Given the description of an element on the screen output the (x, y) to click on. 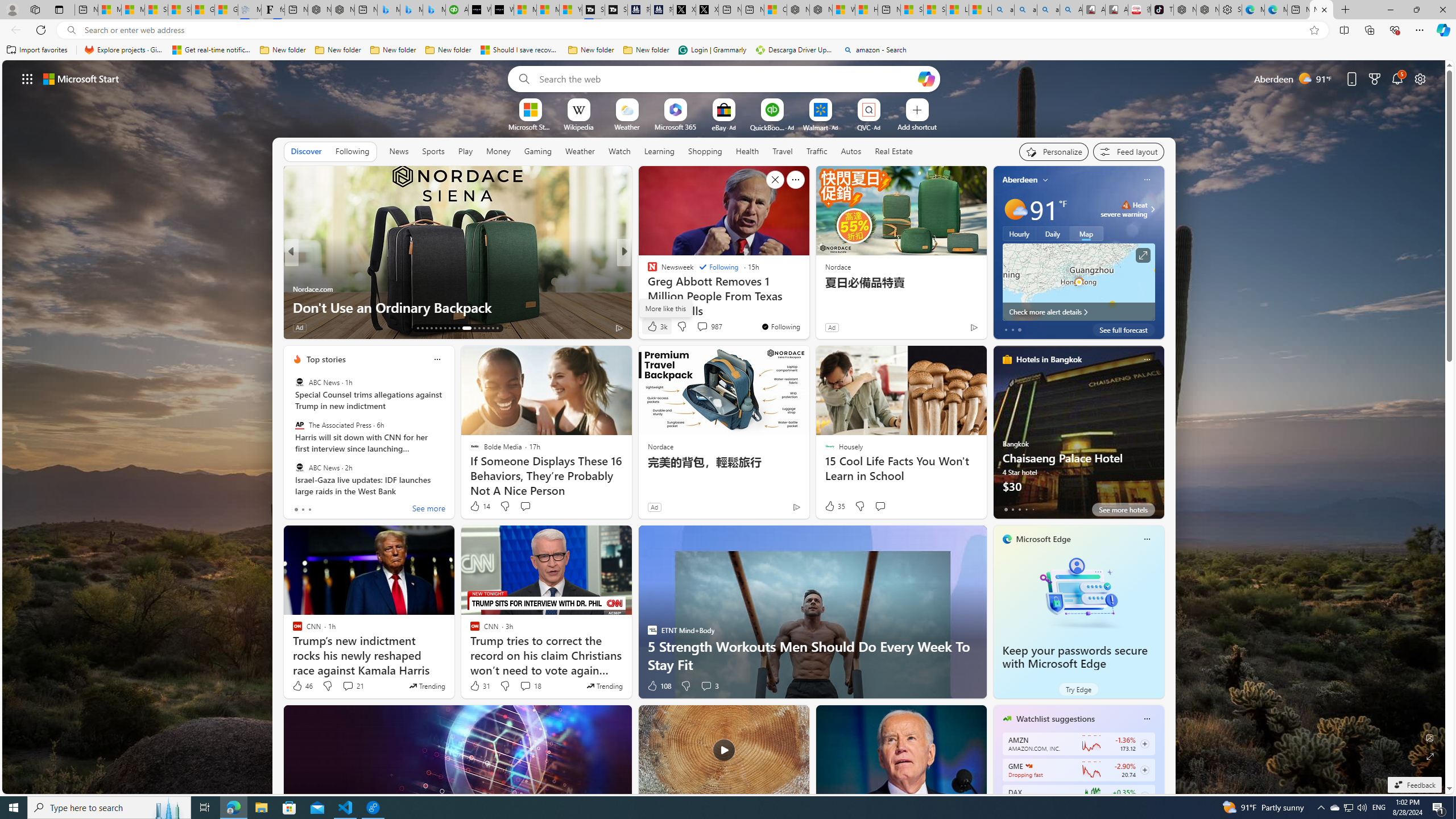
Should I save recovered Word documents? - Microsoft Support (519, 49)
Traffic (816, 151)
Open Copilot (926, 78)
Microsoft Bing Travel - Stays in Bangkok, Bangkok, Thailand (411, 9)
Weather (580, 151)
View comments 251 Comment (6, 327)
Open Copilot (925, 78)
Microsoft start (81, 78)
Money (498, 151)
46 Like (301, 685)
